Given the description of an element on the screen output the (x, y) to click on. 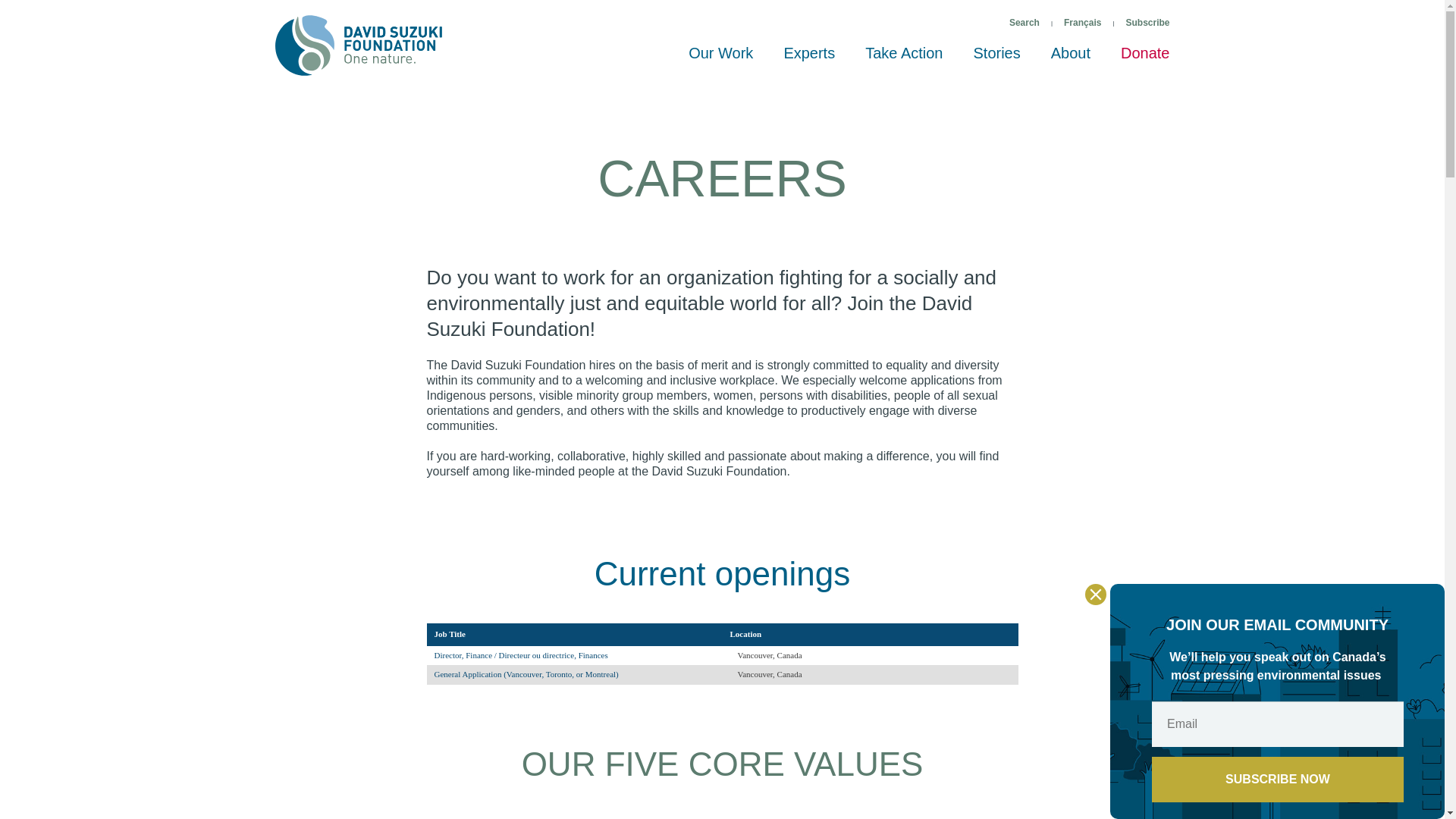
About (1070, 60)
Subscribe (1146, 22)
Donate (1145, 60)
Take Action (904, 60)
Our Work (720, 60)
Search (1024, 22)
Experts (809, 60)
Stories (996, 60)
